Given the description of an element on the screen output the (x, y) to click on. 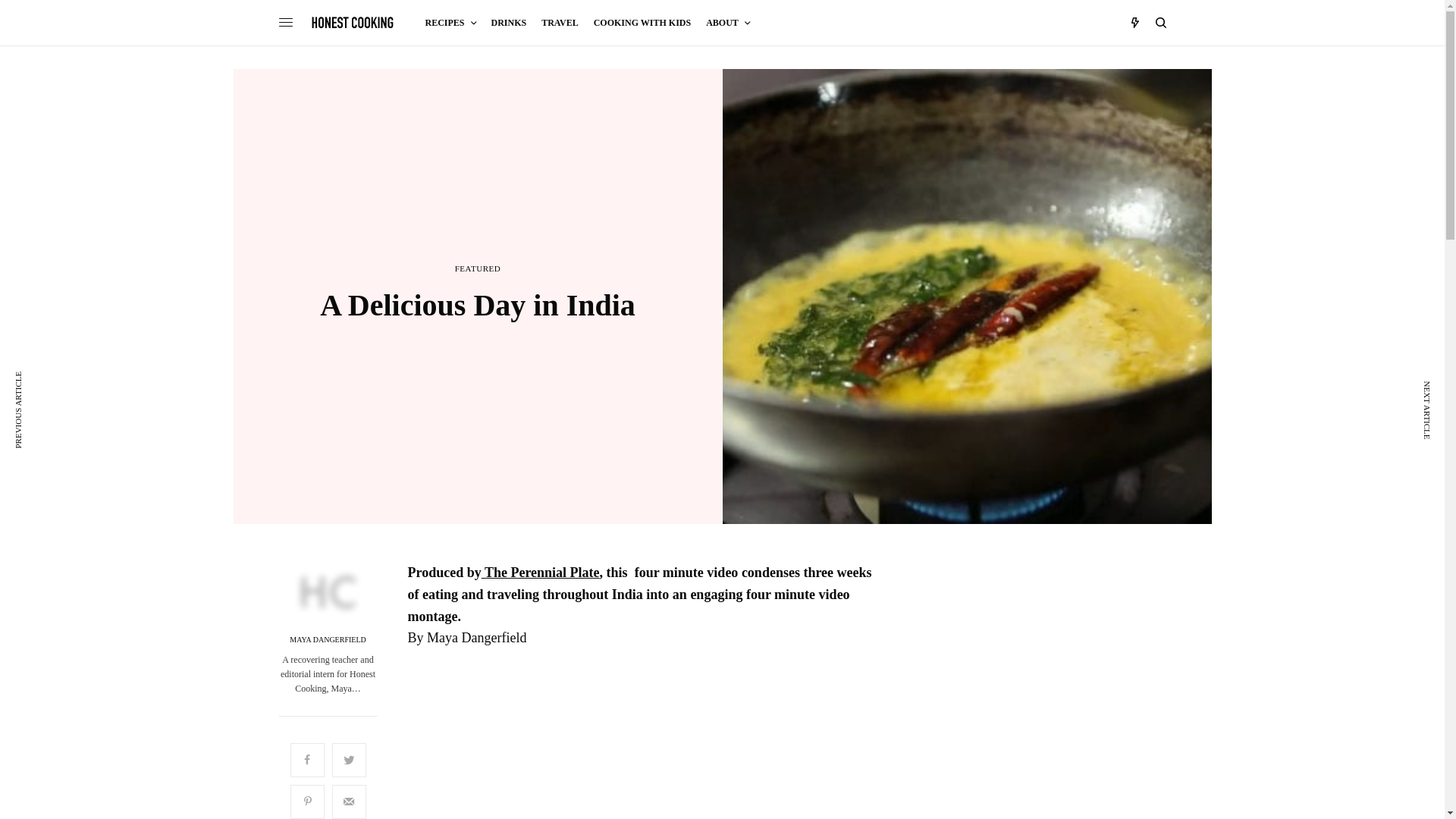
MAYA DANGERFIELD (328, 639)
Honest Cooking (352, 22)
ABOUT (727, 22)
COOKING WITH KIDS (642, 22)
RECIPES (450, 22)
FEATURED (477, 268)
